Given the description of an element on the screen output the (x, y) to click on. 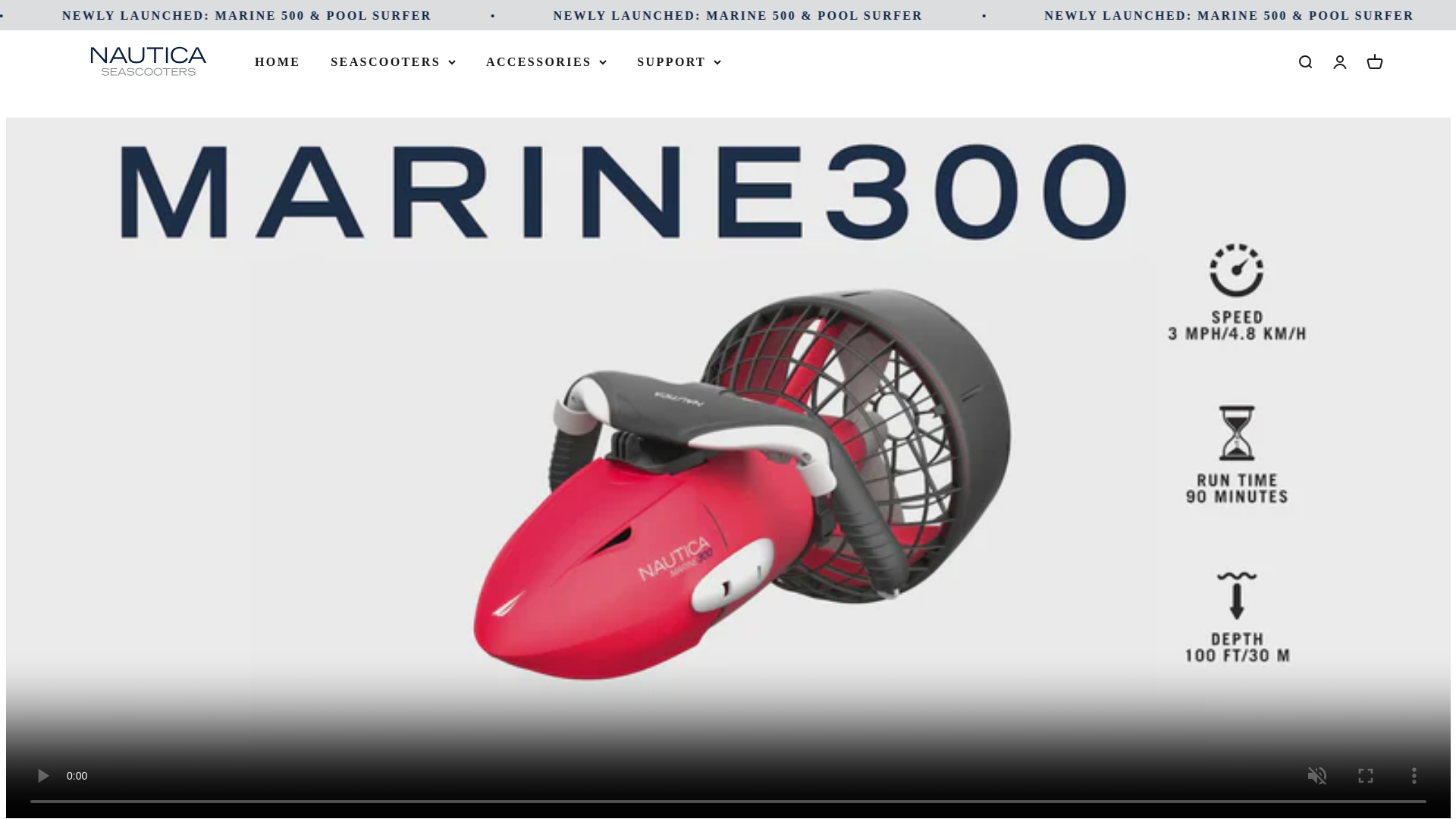
HOME (276, 61)
